Given the description of an element on the screen output the (x, y) to click on. 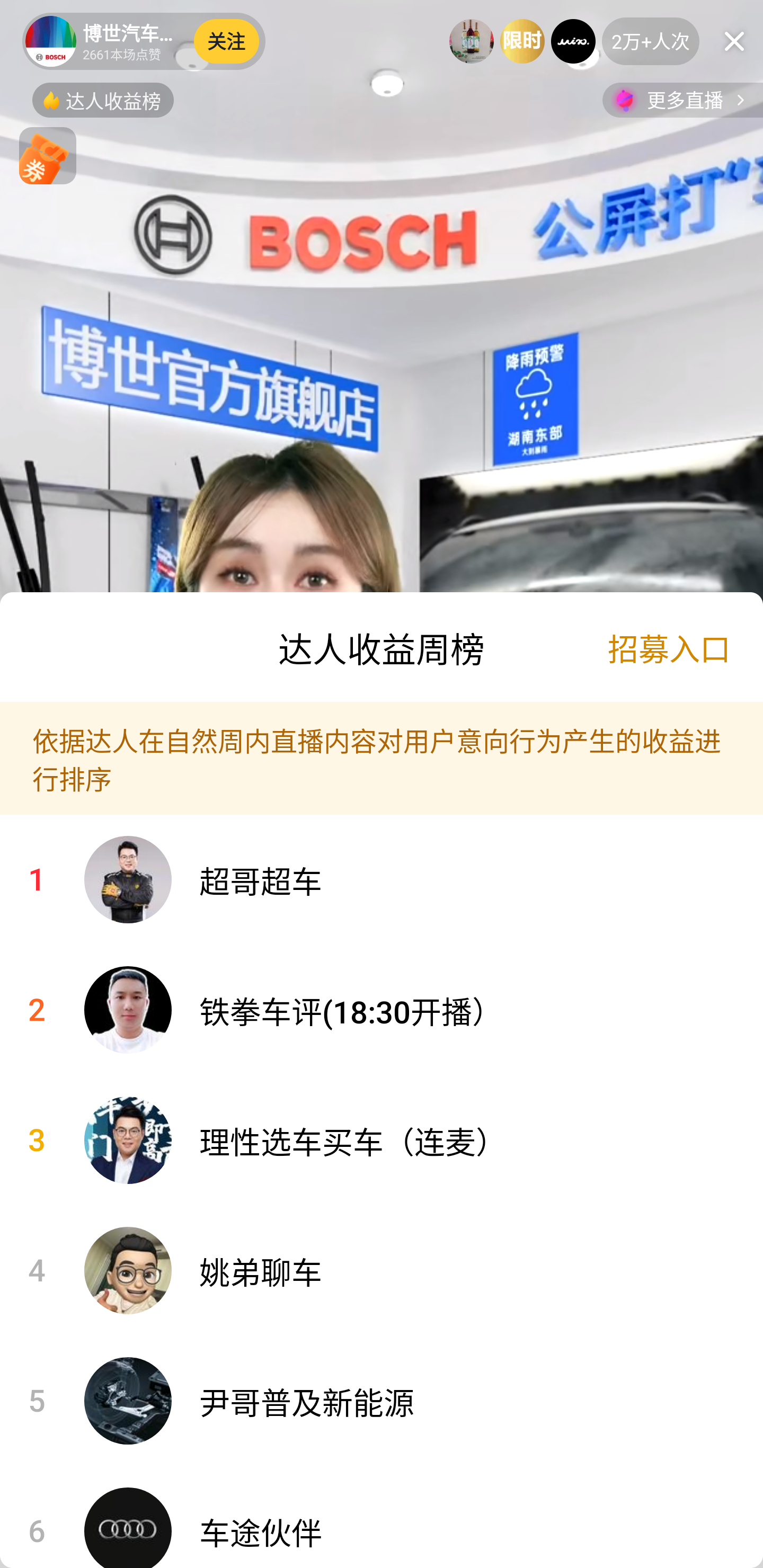
招募入口 (669, 647)
1 超哥超车 (381, 880)
2 铁拳车评(18:30开播） (381, 1010)
3 理性选车买车（连麦） (381, 1140)
4 姚弟聊车 (381, 1270)
5 尹哥普及新能源 (381, 1400)
6 车途伙伴 (381, 1517)
